Given the description of an element on the screen output the (x, y) to click on. 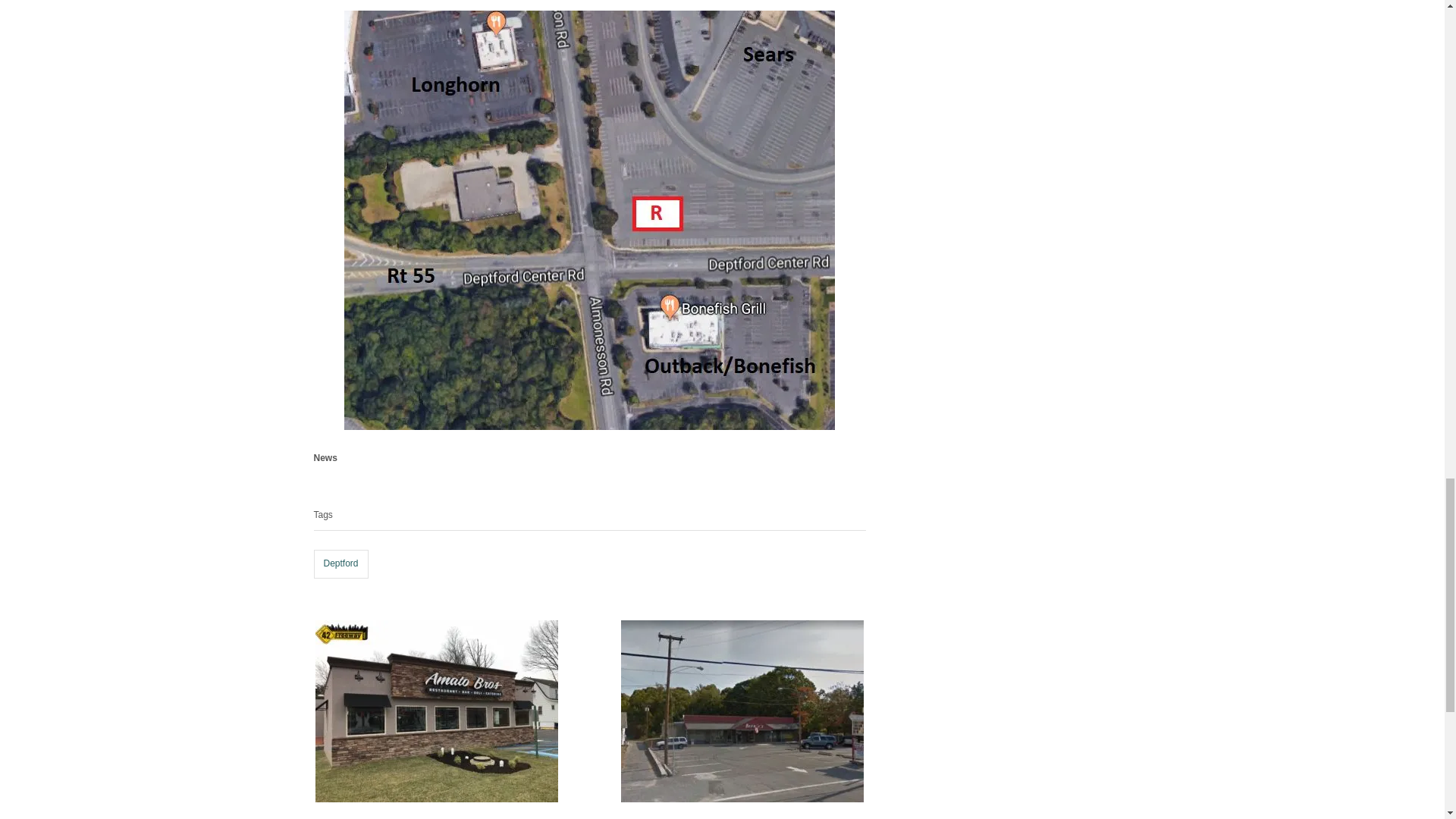
Deptford (341, 563)
News (325, 457)
